Given the description of an element on the screen output the (x, y) to click on. 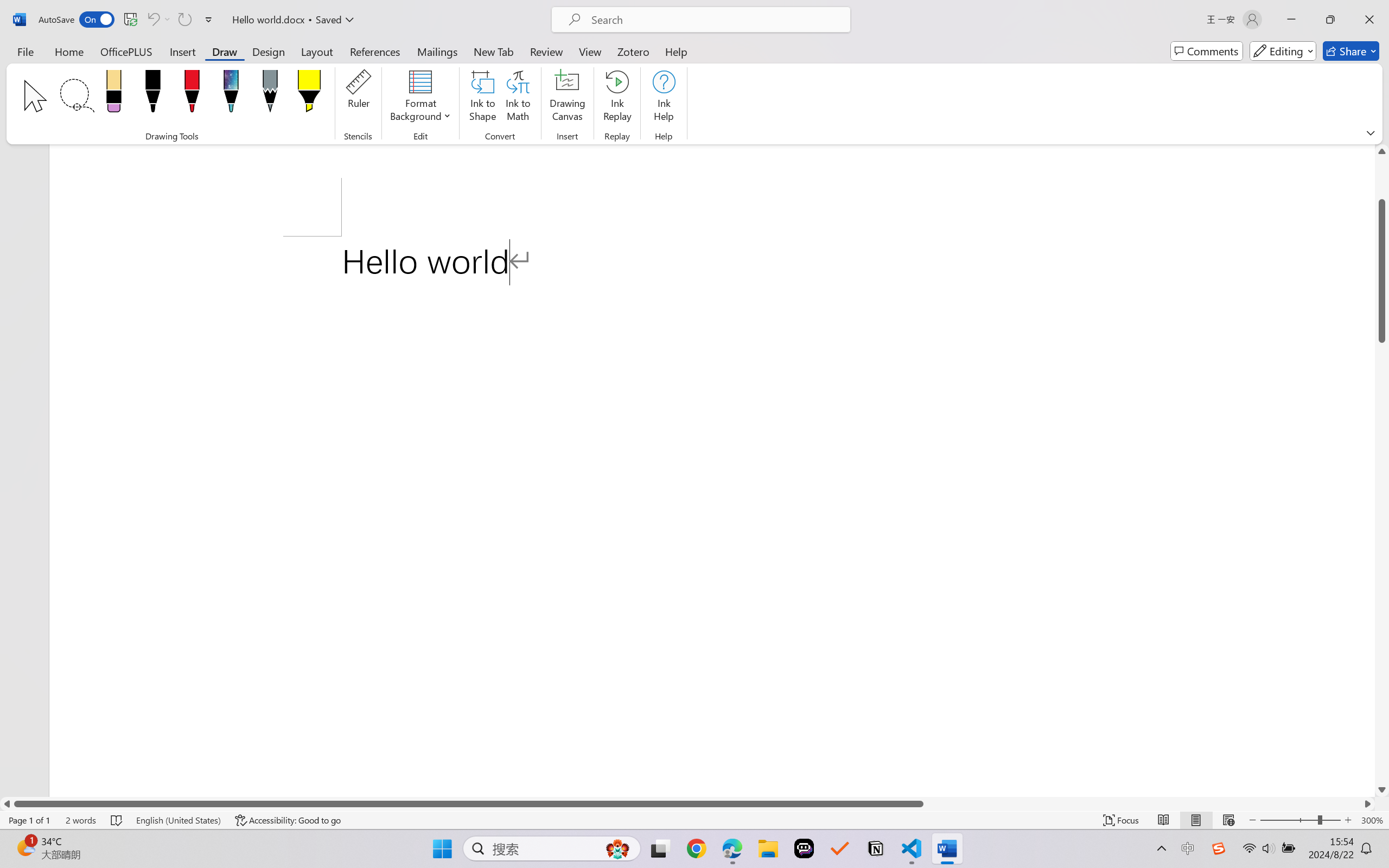
Home (69, 51)
Class: NetUIScrollBar (687, 803)
File Tab (24, 51)
Spelling and Grammar Check No Errors (117, 819)
Can't Repeat (184, 19)
Format Background (420, 97)
Review (546, 51)
Zoom 300% (1372, 819)
Page Number Page 1 of 1 (29, 819)
Pen: Black, 0.5 mm (152, 94)
Close (1369, 19)
